Given the description of an element on the screen output the (x, y) to click on. 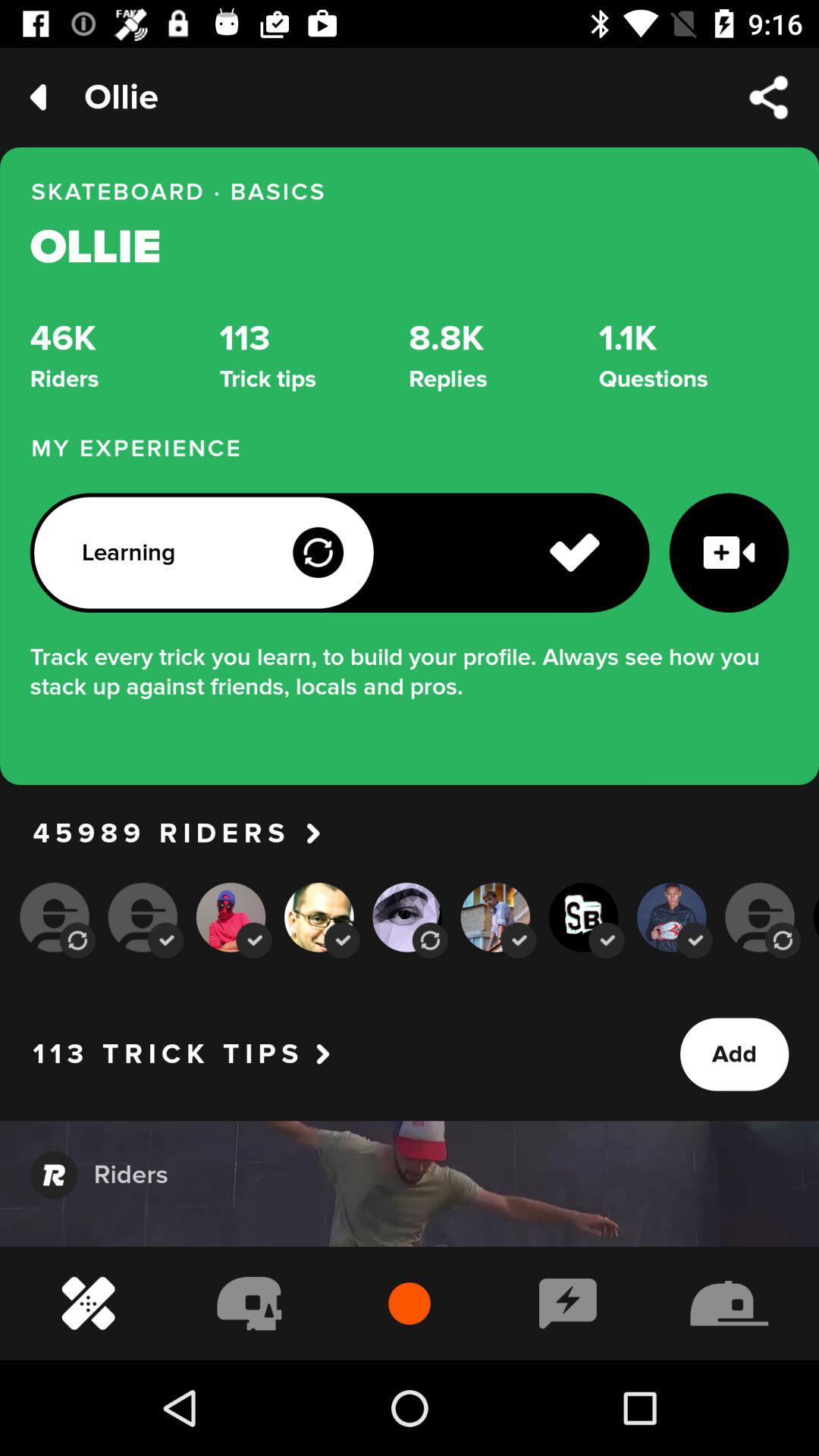
go to fifth option in the bottom (429, 940)
select the icon left to the video icon (574, 552)
click the option rider below trick tips (134, 1174)
select the first auto rotate icon which is below 45989 riders on page (77, 940)
click on add option (734, 1053)
click on the questions (693, 355)
